Given the description of an element on the screen output the (x, y) to click on. 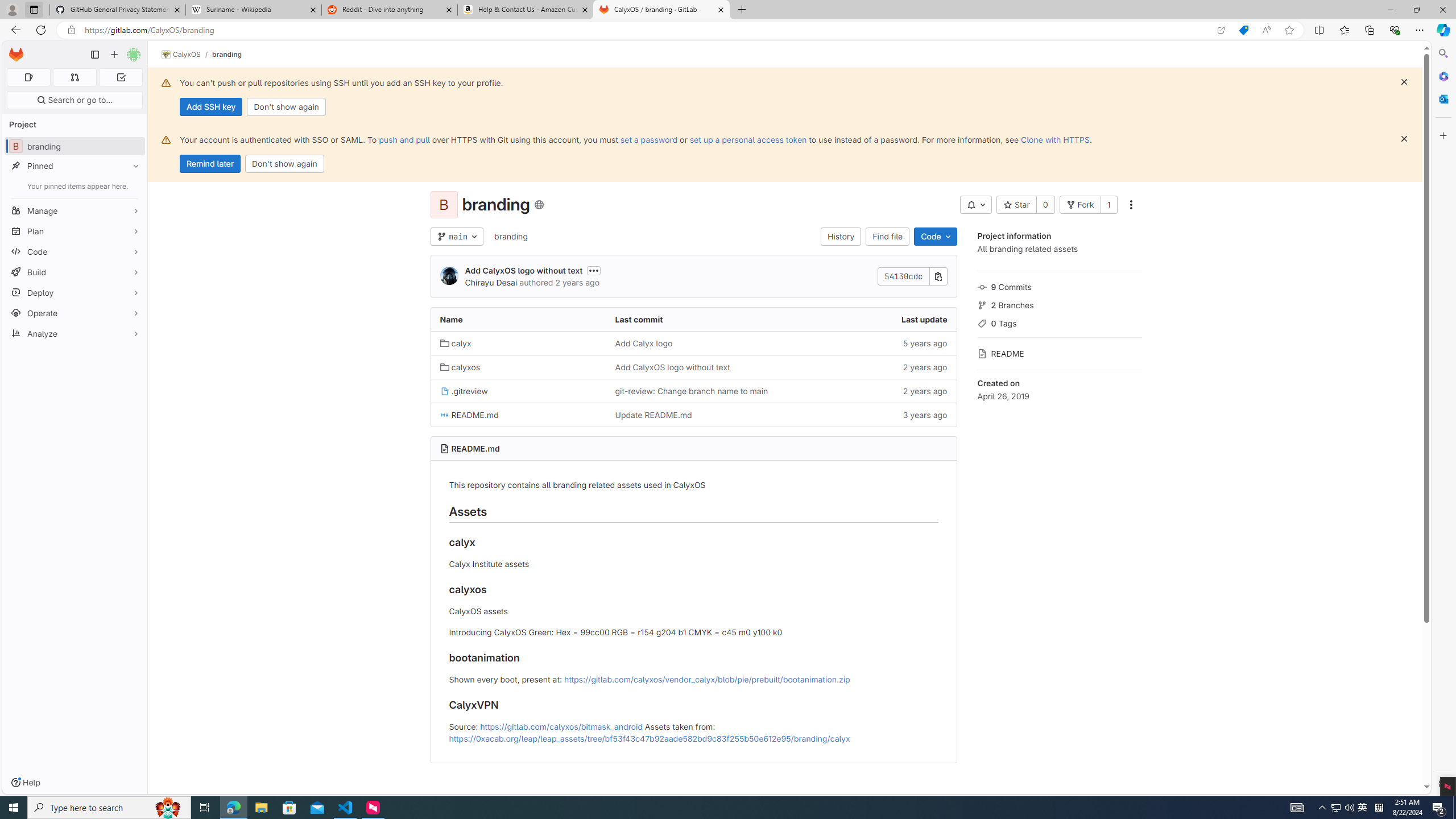
Operate (74, 312)
Add Calyx logo (643, 342)
Name (517, 319)
0 Tags (1058, 322)
Reddit - Dive into anything (390, 9)
Skip to main content (13, 49)
push and pull (403, 139)
README.md (517, 414)
Class: s16 gl-alert-icon gl-alert-icon-no-title (165, 139)
